Given the description of an element on the screen output the (x, y) to click on. 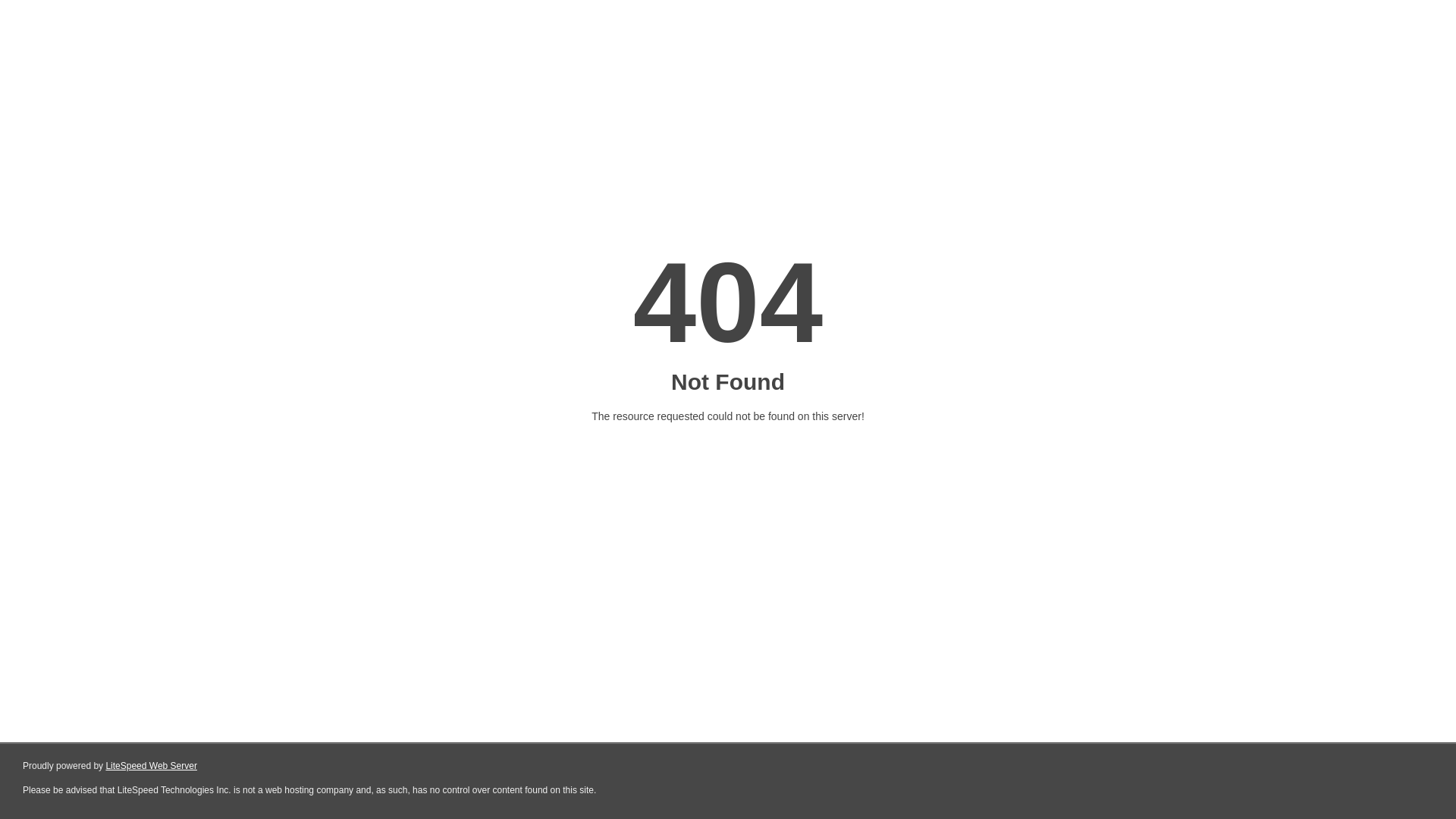
LiteSpeed Web Server Element type: text (151, 765)
